Given the description of an element on the screen output the (x, y) to click on. 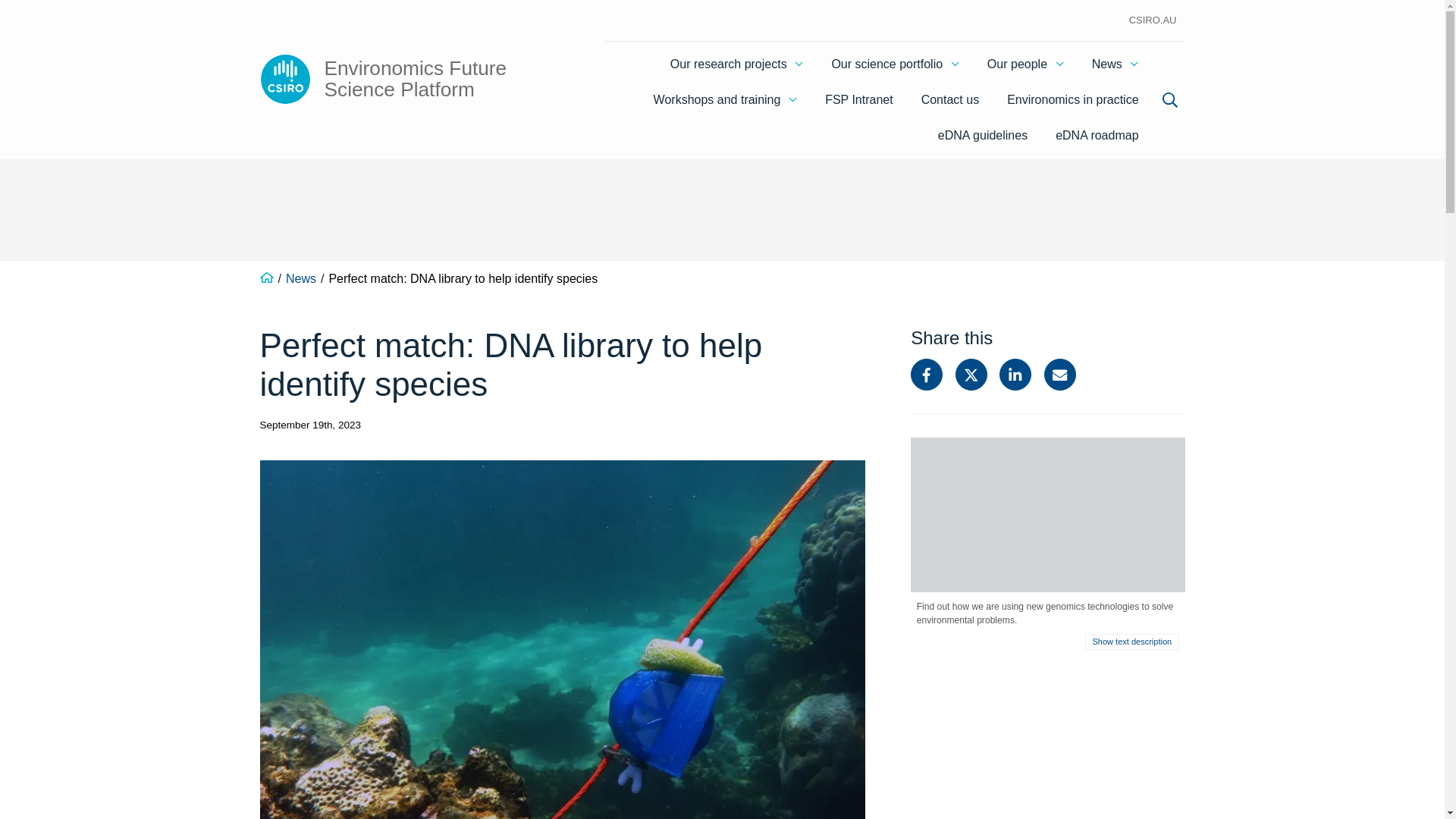
News (1115, 64)
Our science portfolio (894, 64)
Environomics Future Science Platform (413, 78)
Our research projects (736, 64)
Our people (1025, 64)
CSIRO.AU (1153, 20)
